Given the description of an element on the screen output the (x, y) to click on. 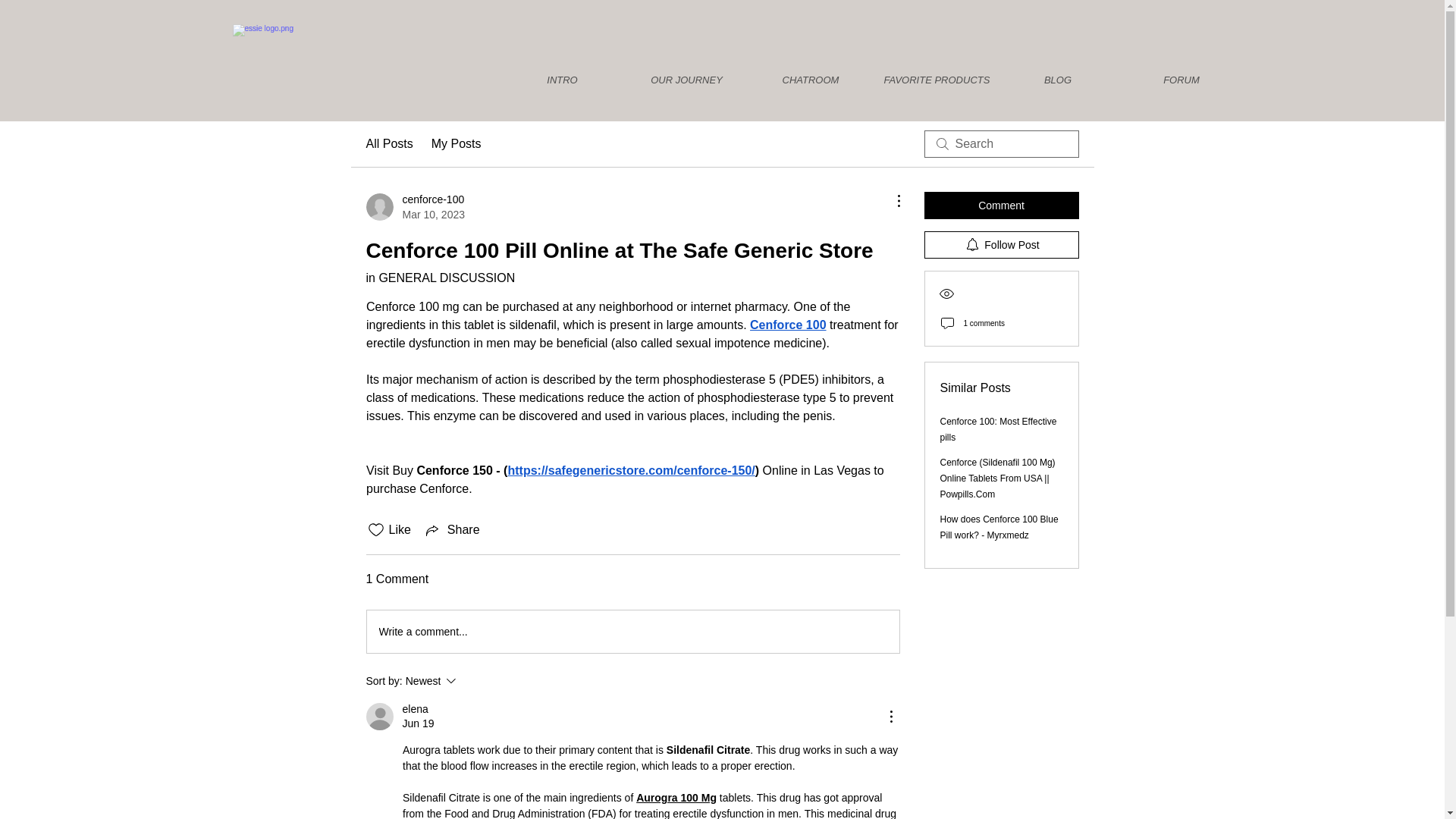
CHATROOM (810, 80)
elena (414, 708)
FAVORITE PRODUCTS (933, 80)
Cenforce 100: Most Effective pills (998, 429)
My Posts (414, 206)
in GENERAL DISCUSSION (455, 144)
Share (440, 277)
How does Cenforce 100 Blue Pill work? - Myrxmedz (451, 529)
Write a comment... (999, 527)
